Given the description of an element on the screen output the (x, y) to click on. 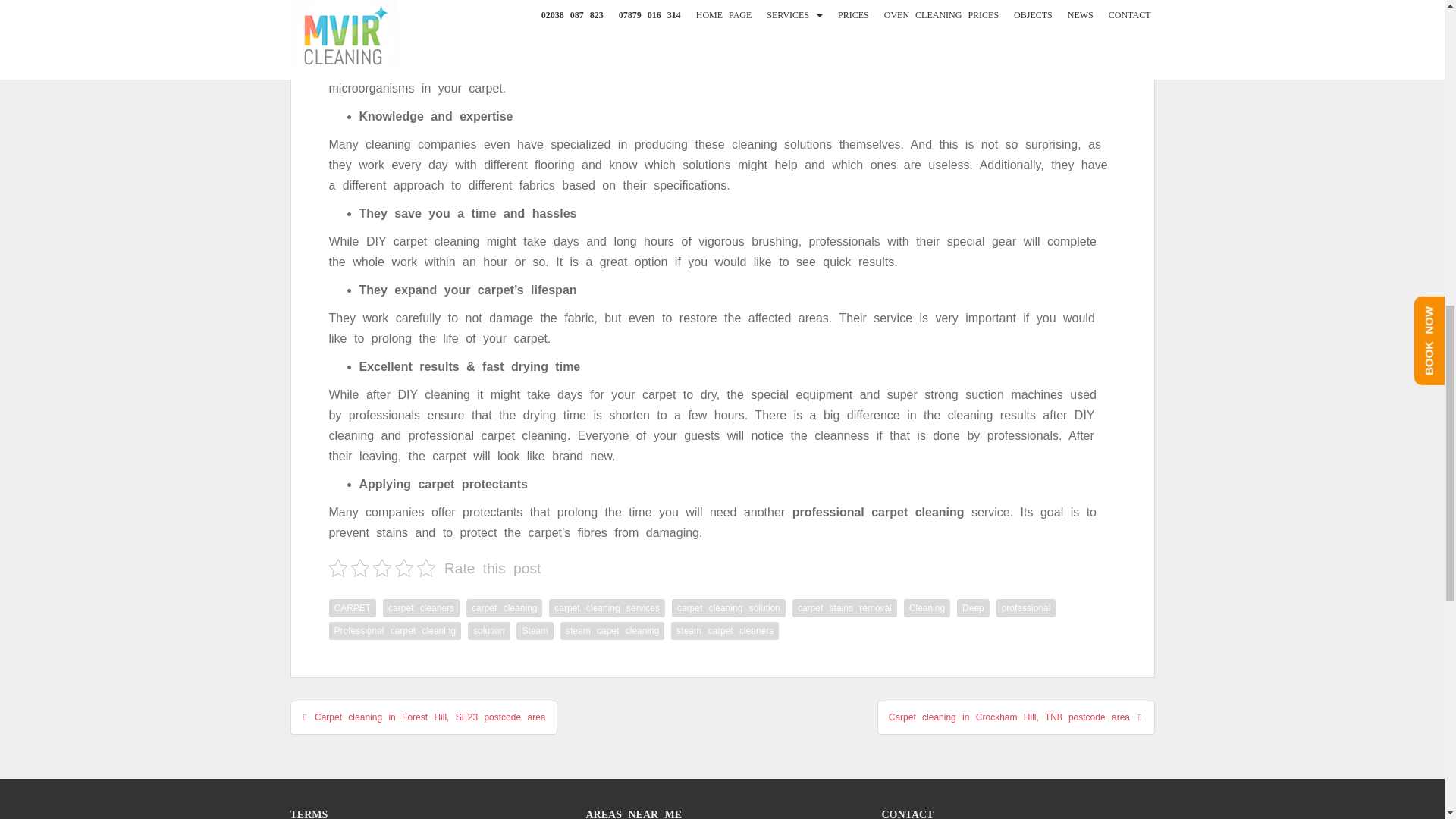
solution (488, 630)
steam carpet cleaners (724, 630)
carpet stains removal (844, 607)
carpet cleaning services (606, 607)
carpet cleaners (421, 607)
Deep (973, 607)
Carpet cleaning in Crockham Hill, TN8 postcode area (1015, 717)
CARPET (353, 607)
Carpet cleaning in Forest Hill, SE23 postcode area (422, 717)
Professional carpet cleaning (395, 630)
steam capet cleaning (611, 630)
Steam (534, 630)
Cleaning (927, 607)
carpet cleaning (503, 607)
carpet cleaning solution (728, 607)
